Given the description of an element on the screen output the (x, y) to click on. 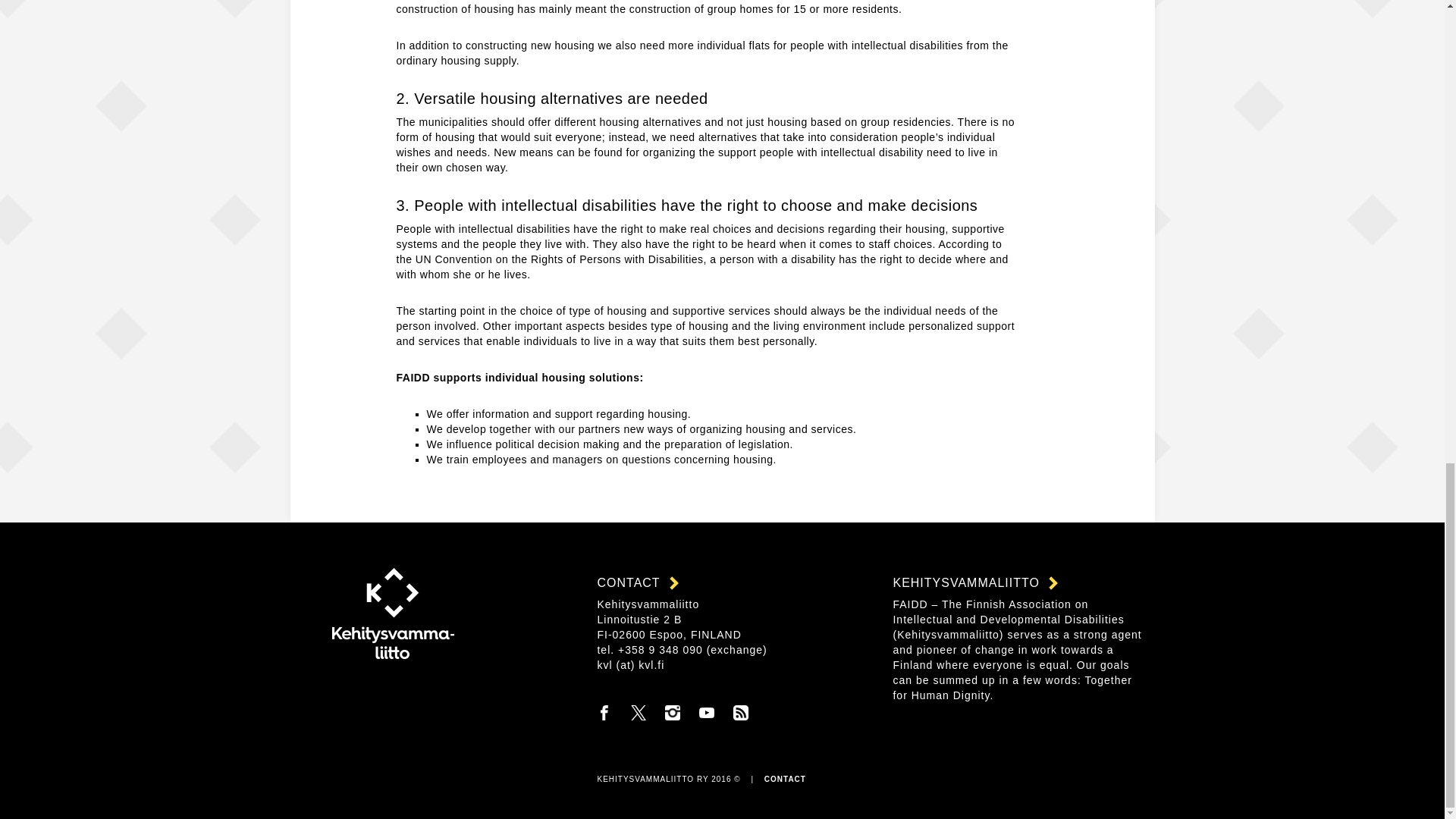
CONTACT (785, 779)
Contact (785, 779)
